Given the description of an element on the screen output the (x, y) to click on. 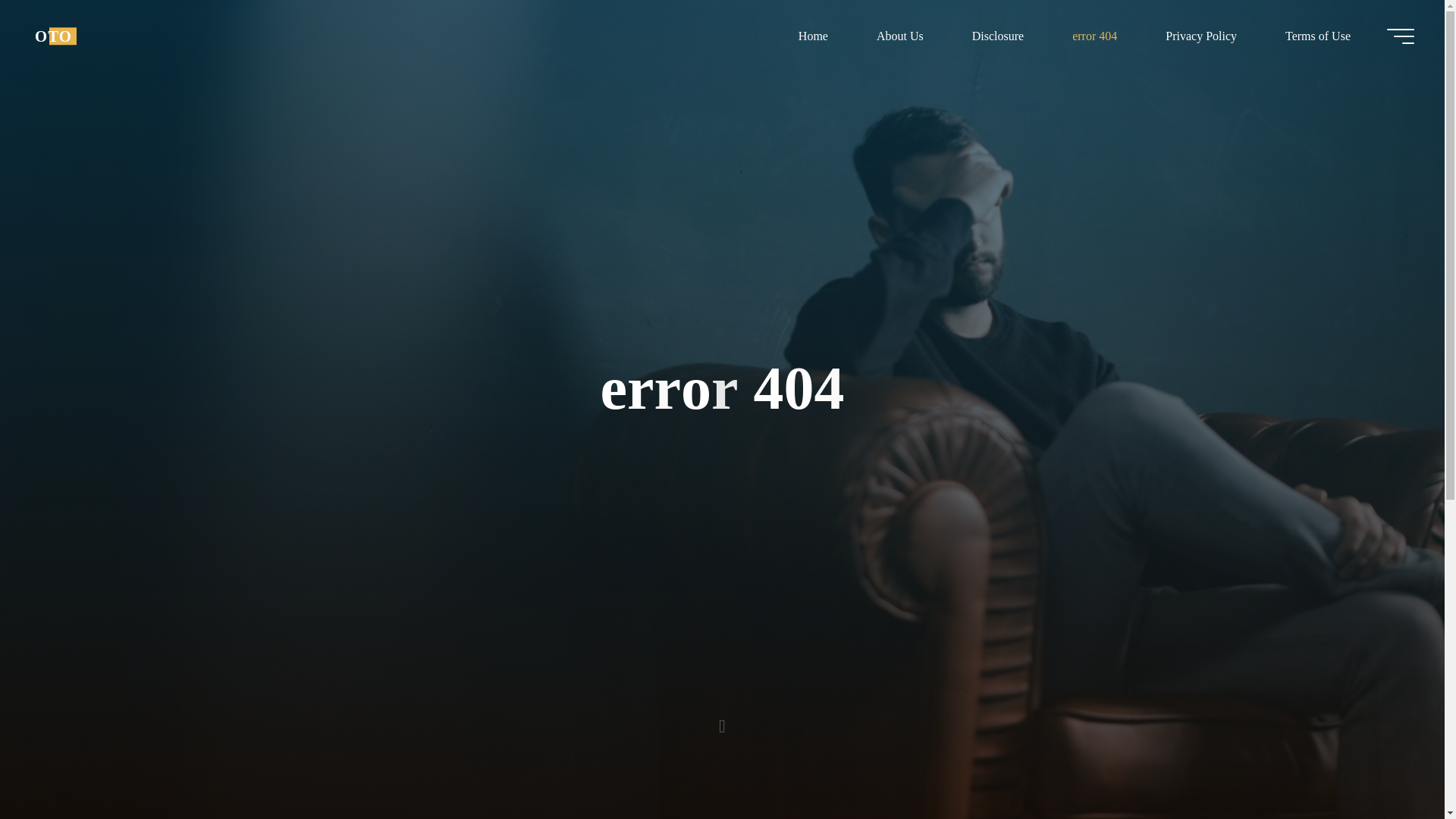
Home (812, 35)
Privacy Policy (1200, 35)
Disclosure (997, 35)
Terms of Use (1317, 35)
About Us (899, 35)
error 404 (1094, 35)
OTO (53, 36)
Read more (721, 724)
